Given the description of an element on the screen output the (x, y) to click on. 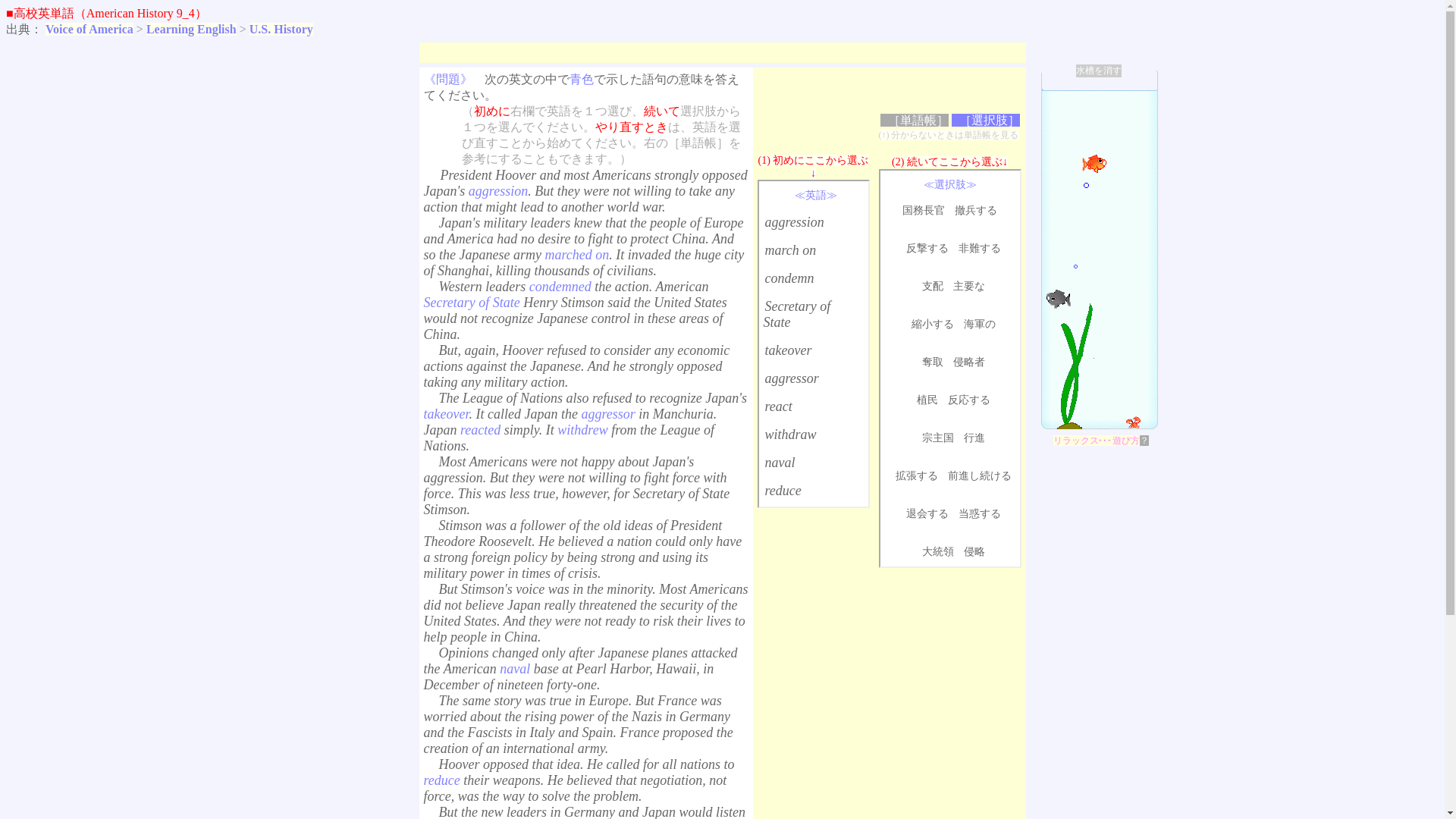
Advertisement (949, 656)
march on (789, 249)
Advertisement (813, 664)
naval (779, 462)
condemn (788, 278)
reduce (782, 490)
aggression (794, 222)
react (778, 406)
Advertisement (699, 52)
Learning English (191, 29)
withdraw (789, 434)
takeover (787, 350)
U.S. History (280, 29)
Voice of America (89, 29)
Secretary of State (795, 314)
